Given the description of an element on the screen output the (x, y) to click on. 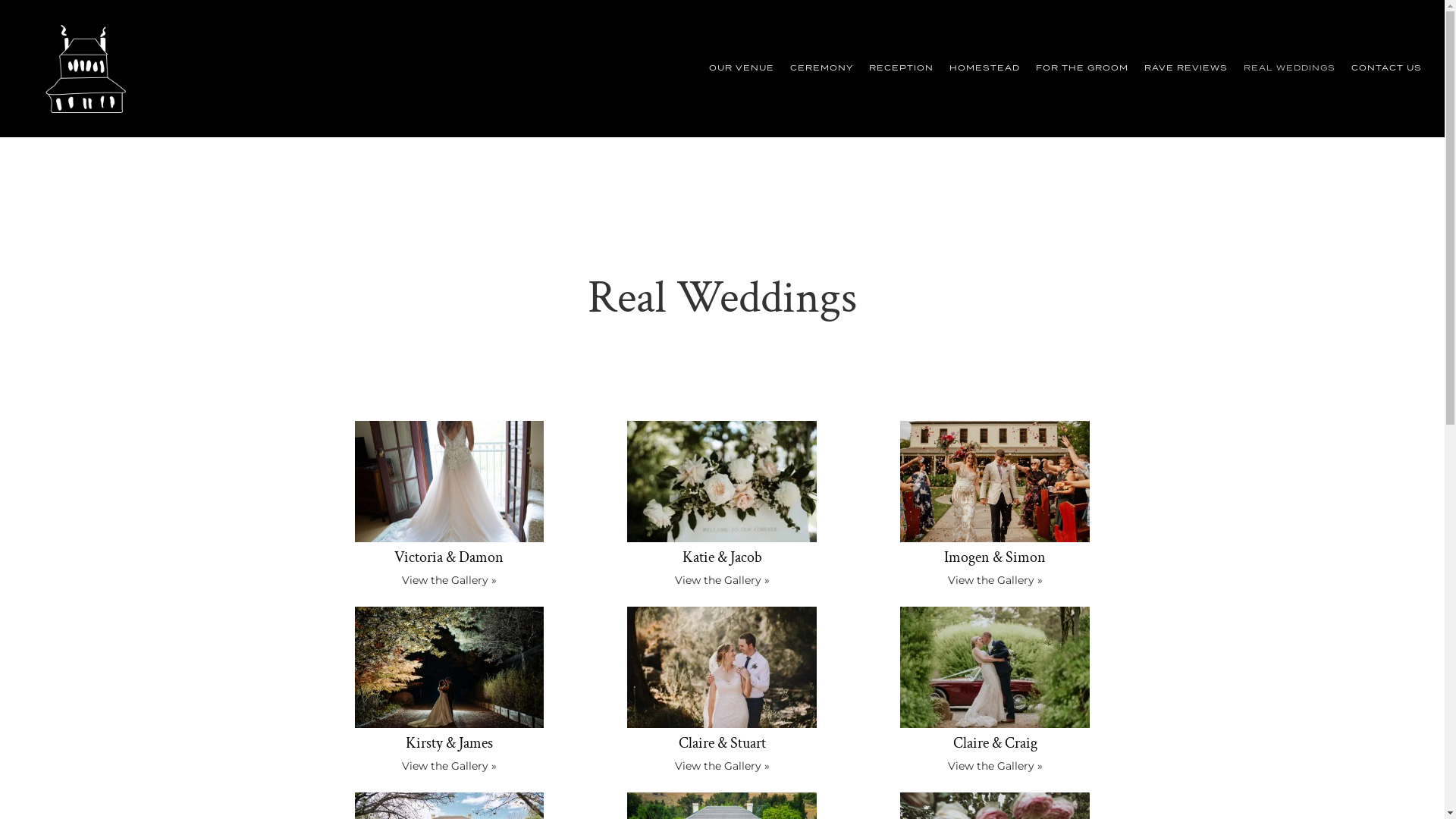
RECEPTION Element type: text (901, 68)
Claire & Stuart Element type: hover (721, 665)
Victoria & Damon Element type: hover (449, 480)
Kirsty & James Element type: text (448, 743)
logo Element type: hover (85, 68)
HOMESTEAD Element type: text (984, 68)
Imogen & Simon Element type: text (994, 557)
Victoria & Damon Element type: text (448, 557)
RAVE REVIEWS Element type: text (1185, 68)
Katie & Jacob Element type: hover (721, 480)
REAL WEDDINGS Element type: text (1289, 68)
Claire & Stuart Element type: text (721, 743)
Katie & Jacob Element type: text (722, 557)
OUR VENUE Element type: text (741, 68)
Claire & Craig Element type: text (995, 743)
Imogen & Simon Element type: hover (994, 480)
Kirsty & James Element type: hover (449, 665)
CEREMONY Element type: text (821, 68)
Claire & Craig Element type: hover (994, 665)
CONTACT US Element type: text (1386, 68)
FOR THE GROOM Element type: text (1081, 68)
